Given the description of an element on the screen output the (x, y) to click on. 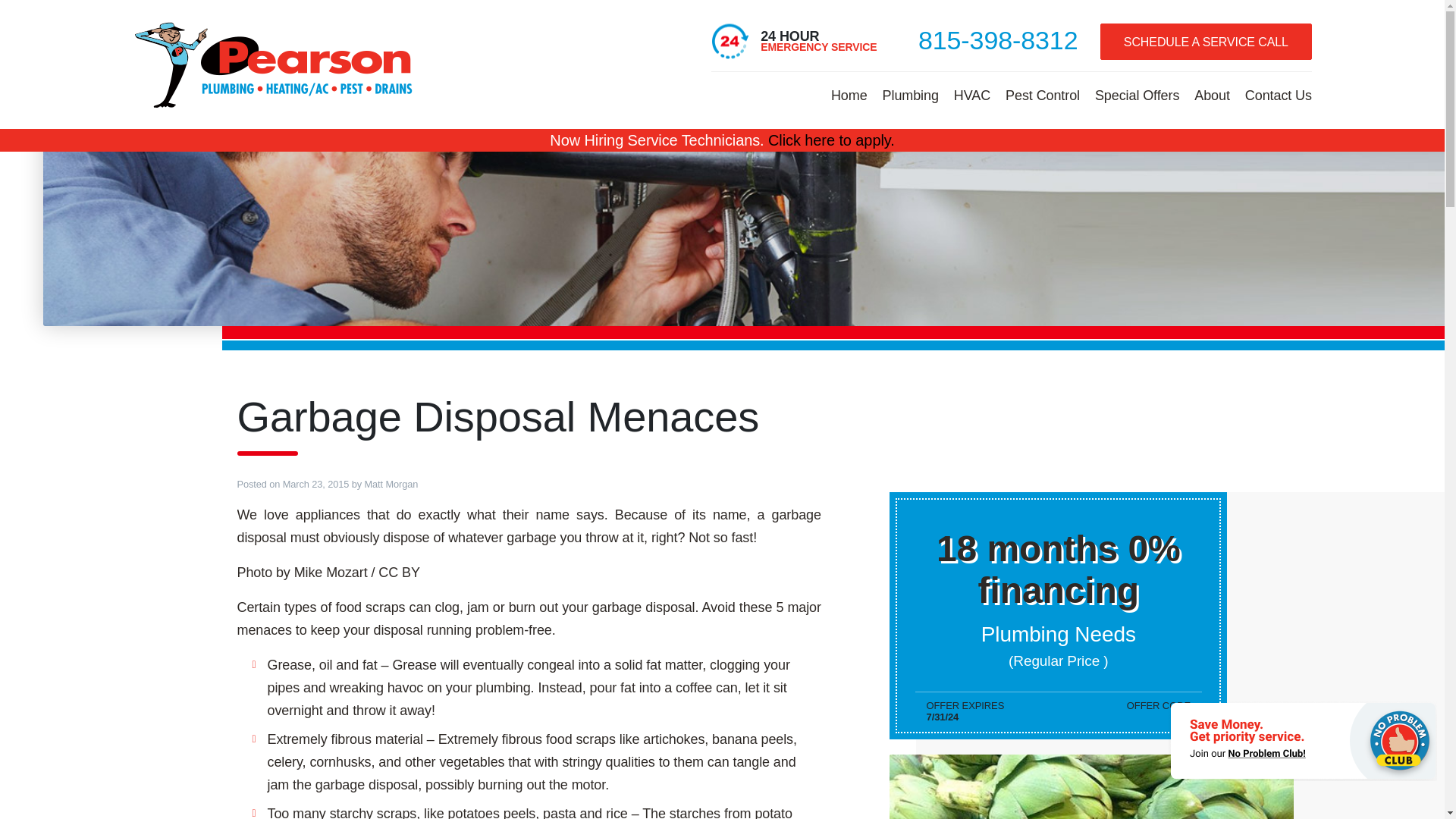
Plumbing (910, 93)
SCHEDULE A SERVICE CALL (1205, 41)
Click here to apply. (831, 139)
Special Offers (1136, 93)
Pest Control (1042, 93)
HVAC (971, 93)
Logo (274, 63)
815-398-8312 (998, 39)
Plumbing (910, 93)
Home (849, 93)
March 23, 2015 (315, 483)
Home (849, 93)
Contact Us (1278, 93)
HVAC (971, 93)
About (1211, 93)
